Given the description of an element on the screen output the (x, y) to click on. 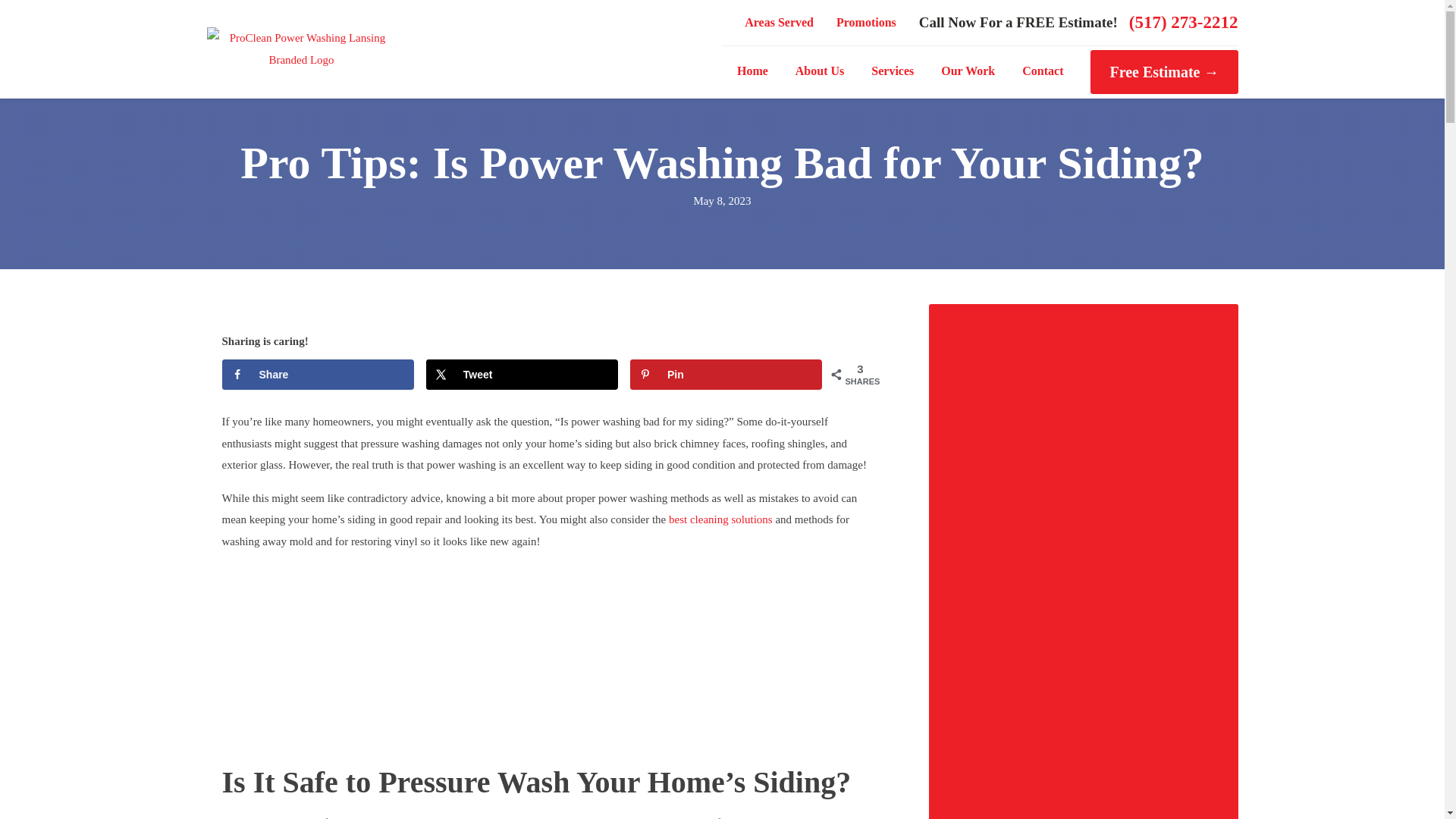
Tweet (521, 374)
Share on X (521, 374)
About Us (819, 71)
Save to Pinterest (726, 374)
Contact (1043, 71)
Home (752, 71)
Promotions (866, 22)
Pin (726, 374)
Services (892, 71)
Share on Facebook (317, 374)
Our Work (968, 71)
Share (317, 374)
best cleaning solutions (720, 519)
Areas Served (779, 22)
